Given the description of an element on the screen output the (x, y) to click on. 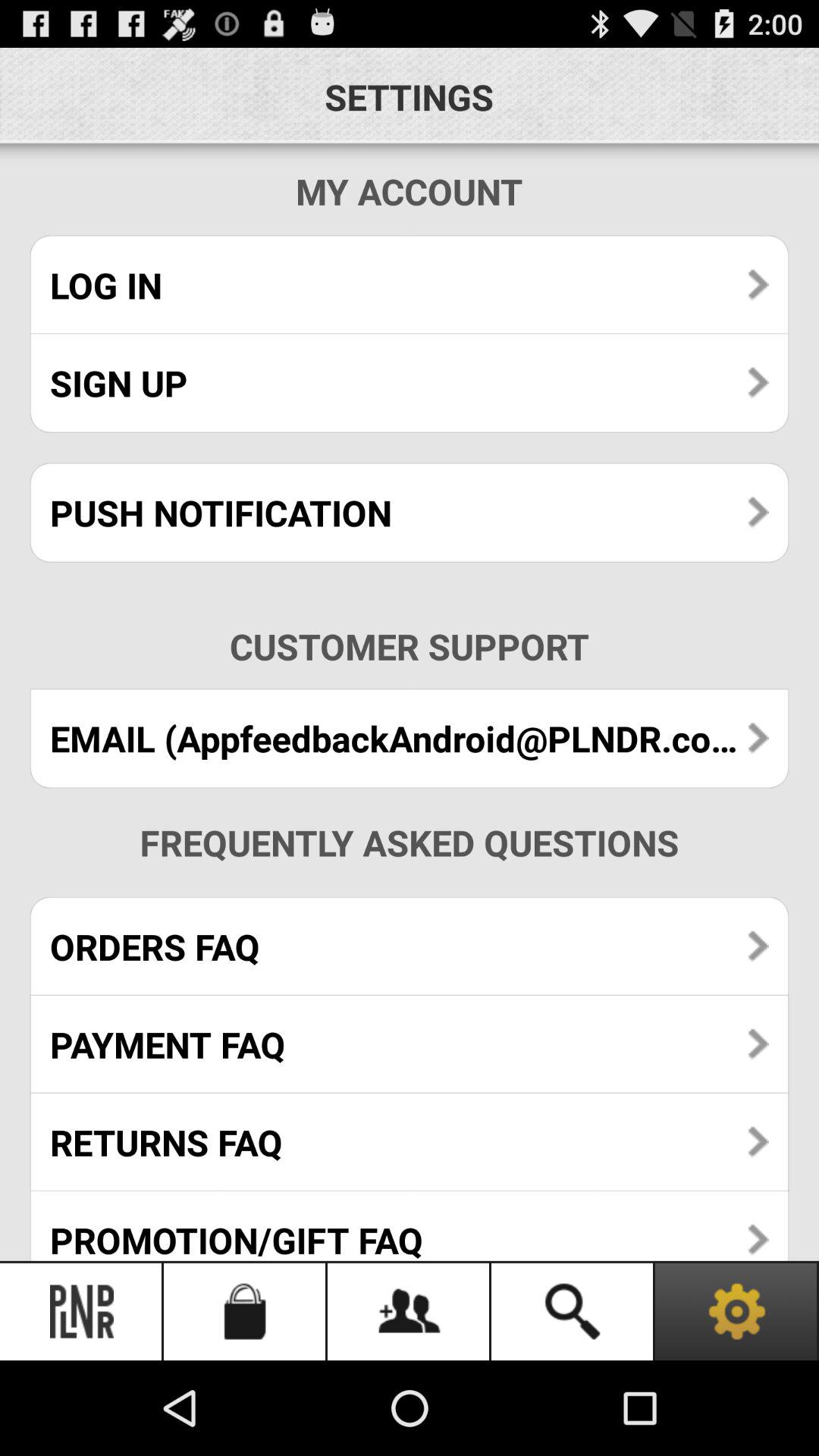
scroll to returns faq app (409, 1142)
